Given the description of an element on the screen output the (x, y) to click on. 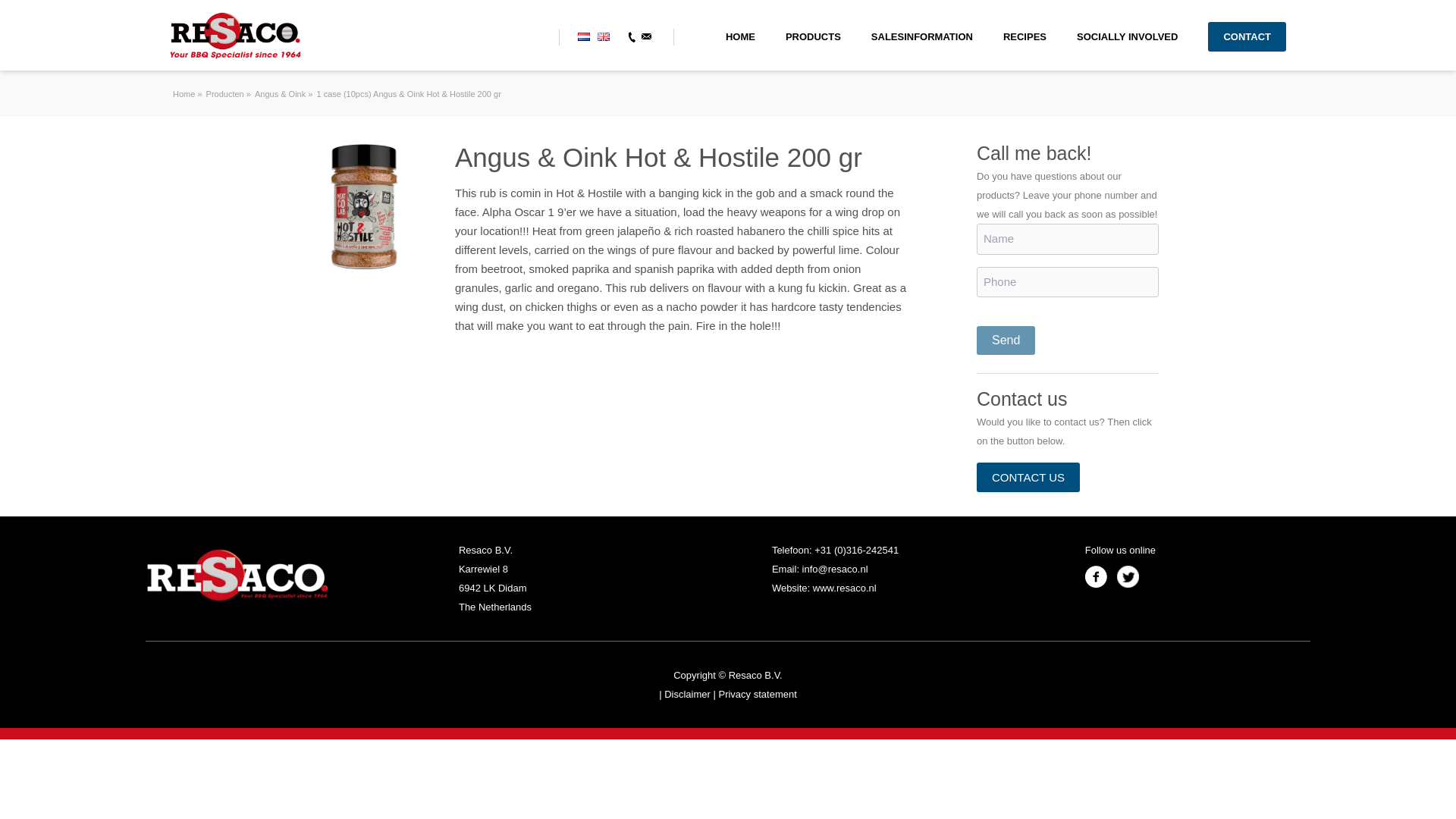
PRODUCTS (813, 36)
HOME (740, 36)
Send (1005, 339)
